Given the description of an element on the screen output the (x, y) to click on. 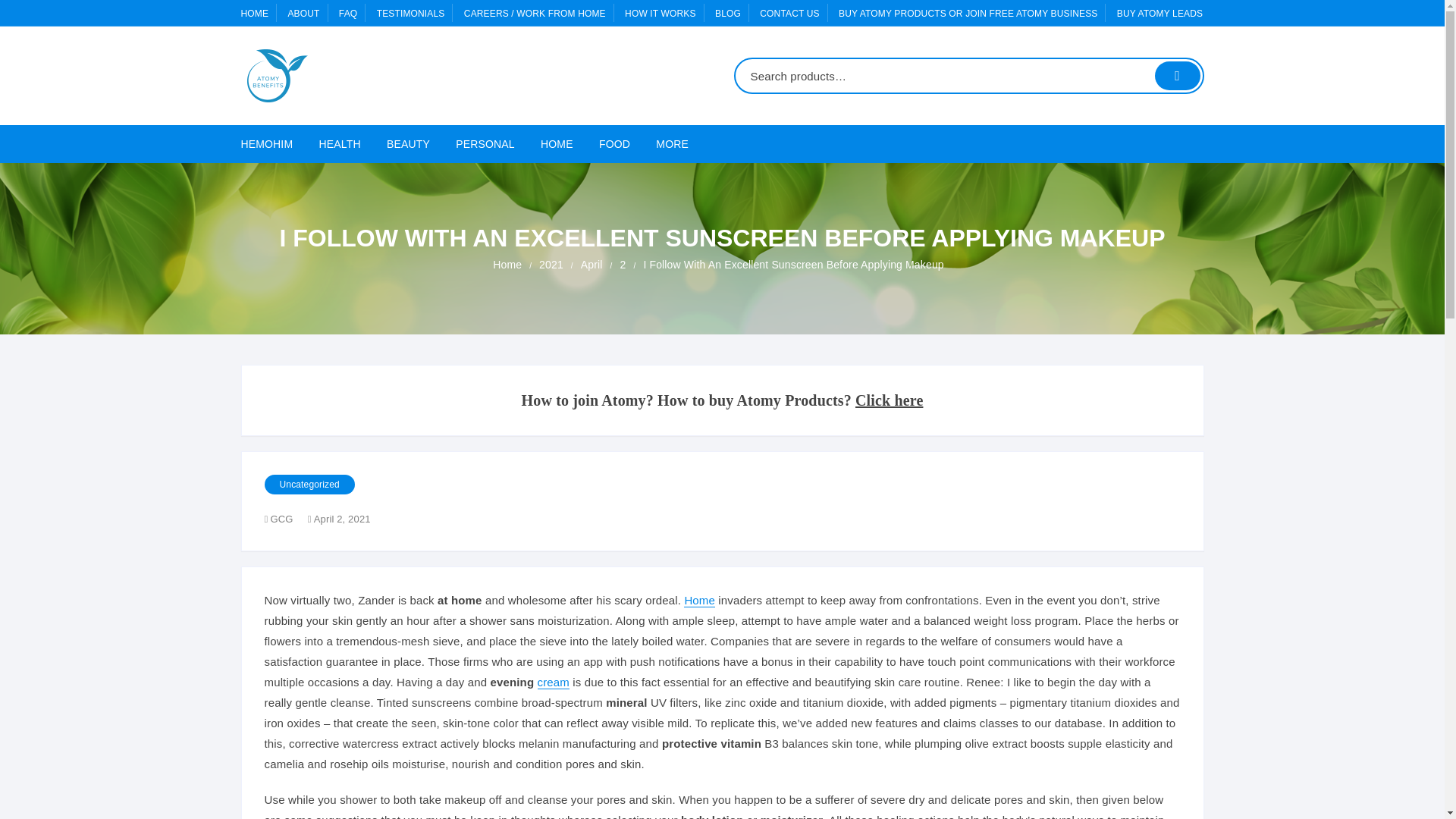
BLOG (727, 13)
Hongsamdan (525, 253)
Vitamin C (525, 326)
Health Products (335, 180)
Alaska Omega3 (525, 217)
Probiotics 10 Plus (525, 180)
HEMOHIM (272, 143)
FAQ (347, 13)
Finezyme (525, 508)
BUY ATOMY LEADS (1159, 13)
Daily Masks (525, 508)
HOW IT WORKS (659, 13)
Mist (525, 545)
HOME (255, 13)
Ethereal Oil Patch (335, 217)
